Given the description of an element on the screen output the (x, y) to click on. 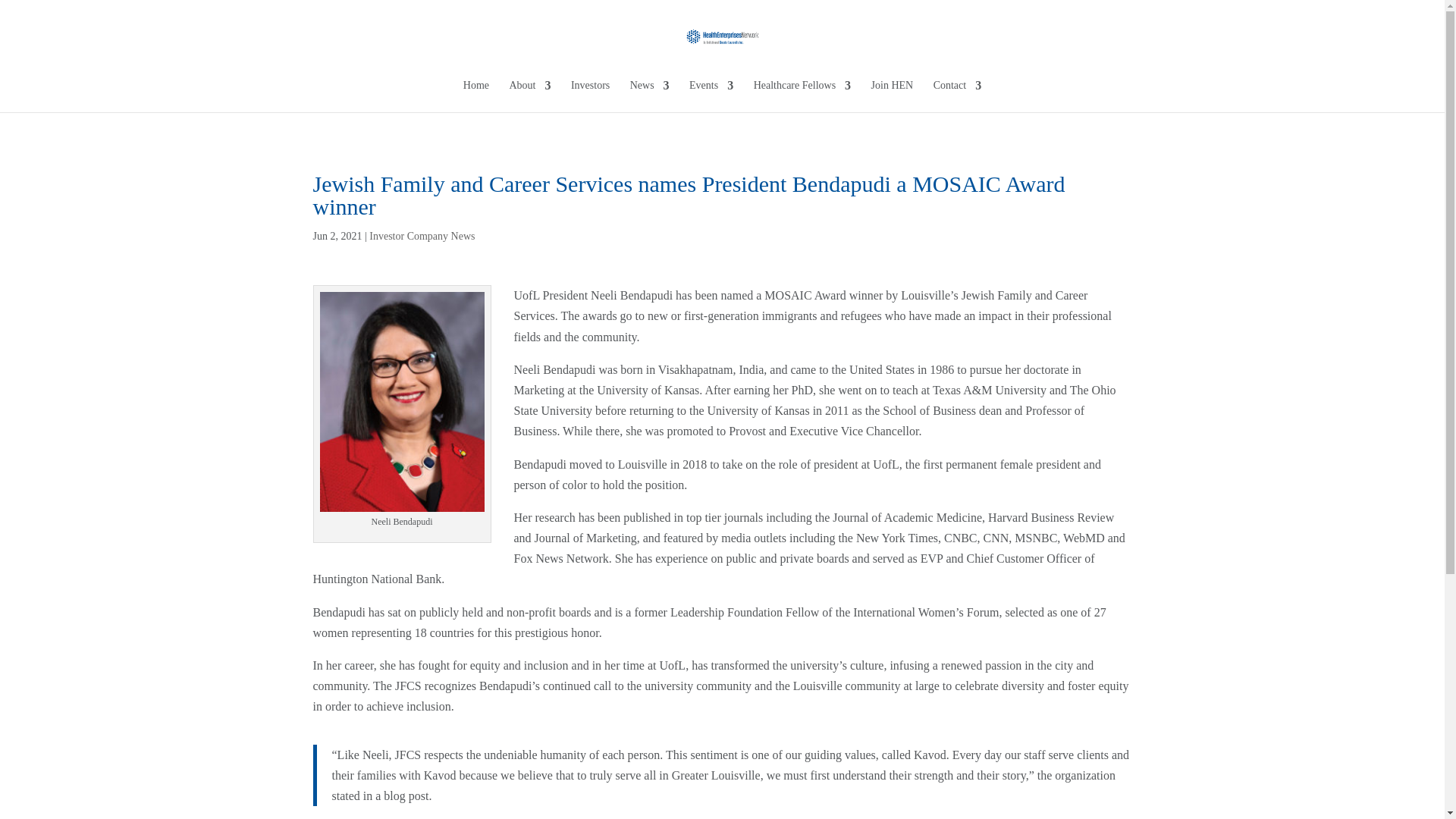
News (649, 96)
Investors (590, 96)
Healthcare Fellows (802, 96)
Events (710, 96)
Contact (957, 96)
Join HEN (892, 96)
About (529, 96)
